Given the description of an element on the screen output the (x, y) to click on. 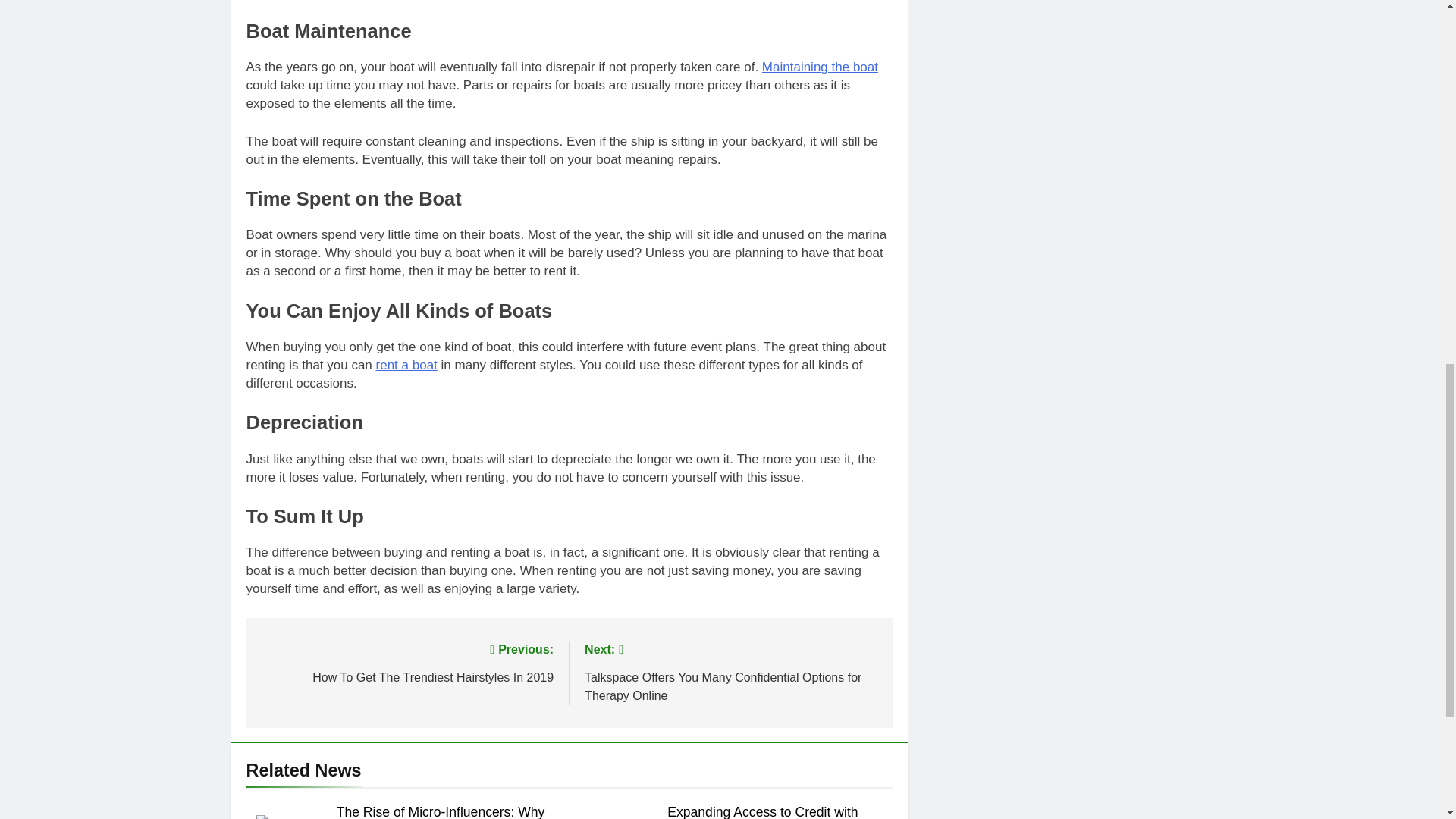
rent a boat (406, 364)
Maintaining the boat (819, 66)
